Given the description of an element on the screen output the (x, y) to click on. 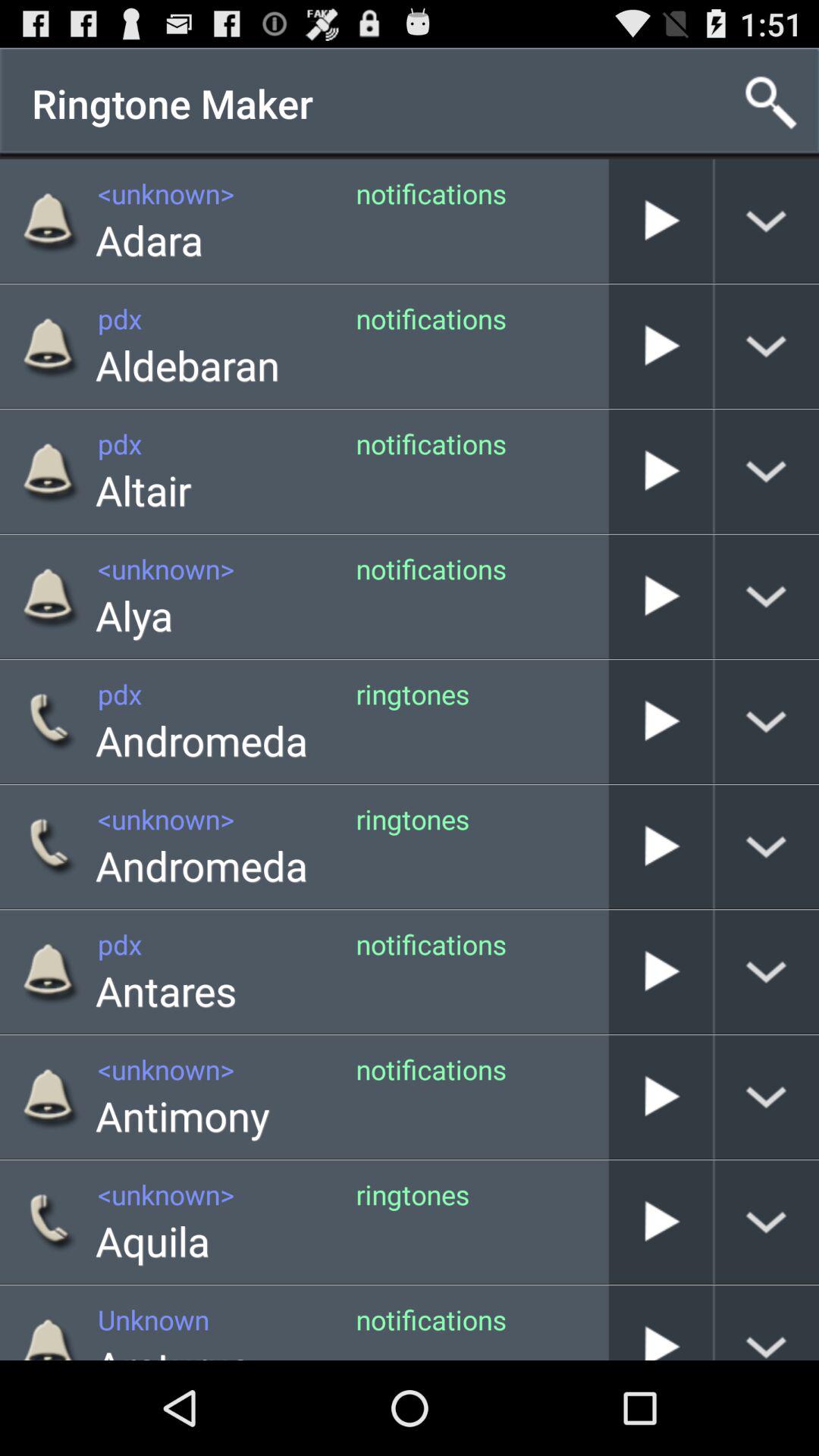
select the icon to the right of the notifications item (608, 221)
